Given the description of an element on the screen output the (x, y) to click on. 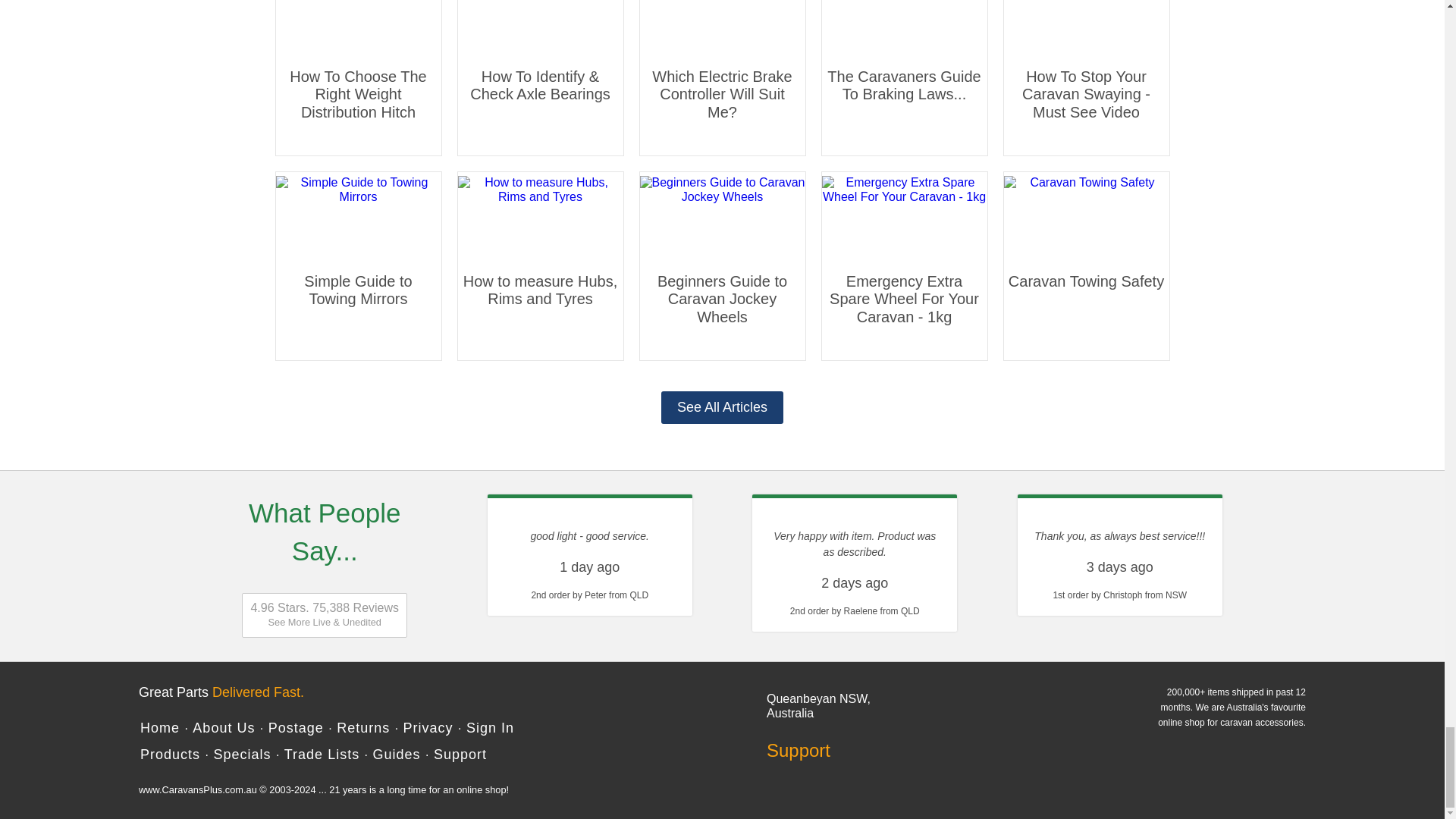
Trade Lists (321, 754)
About (223, 727)
Retuns (362, 727)
Support (459, 754)
Support (834, 750)
Guides (396, 754)
Specials (241, 754)
Postage (295, 727)
Accessories (170, 754)
Sign In (489, 727)
